Given the description of an element on the screen output the (x, y) to click on. 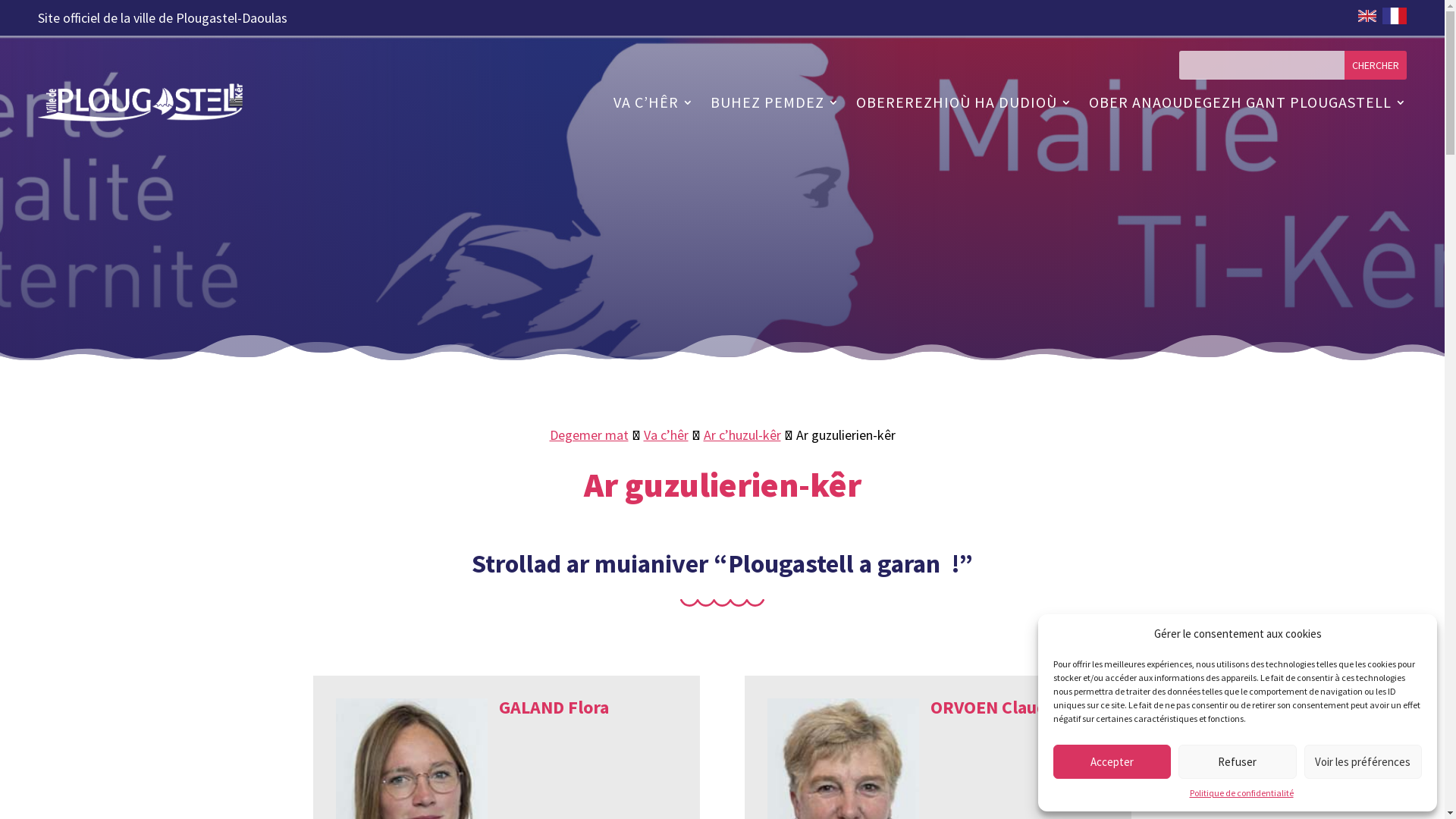
Aller au contenu Element type: text (45, 9)
Accepter Element type: text (1111, 761)
Refuser Element type: text (1236, 761)
OBER ANAOUDEGEZH GANT PLOUGASTELL Element type: text (1247, 102)
Degemer mat Element type: text (588, 434)
BUHEZ PEMDEZ Element type: text (774, 102)
Chercher Element type: text (1375, 64)
